Given the description of an element on the screen output the (x, y) to click on. 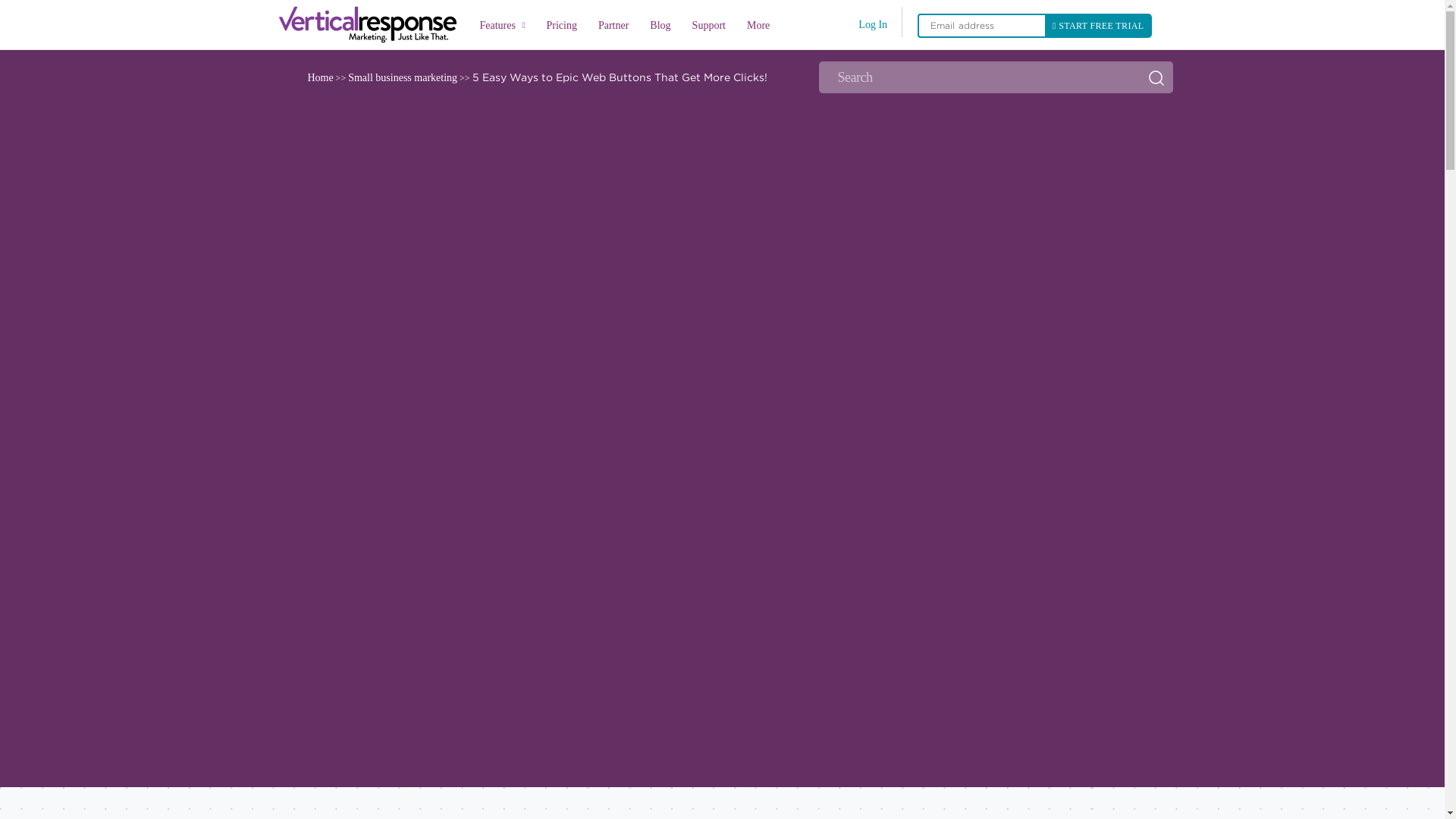
Pricing (560, 27)
Home (372, 24)
Features (501, 24)
Support (708, 27)
Home (319, 77)
START FREE TRIAL (1098, 25)
Blog (660, 27)
Partner (613, 27)
More (758, 27)
Log In (872, 24)
